Given the description of an element on the screen output the (x, y) to click on. 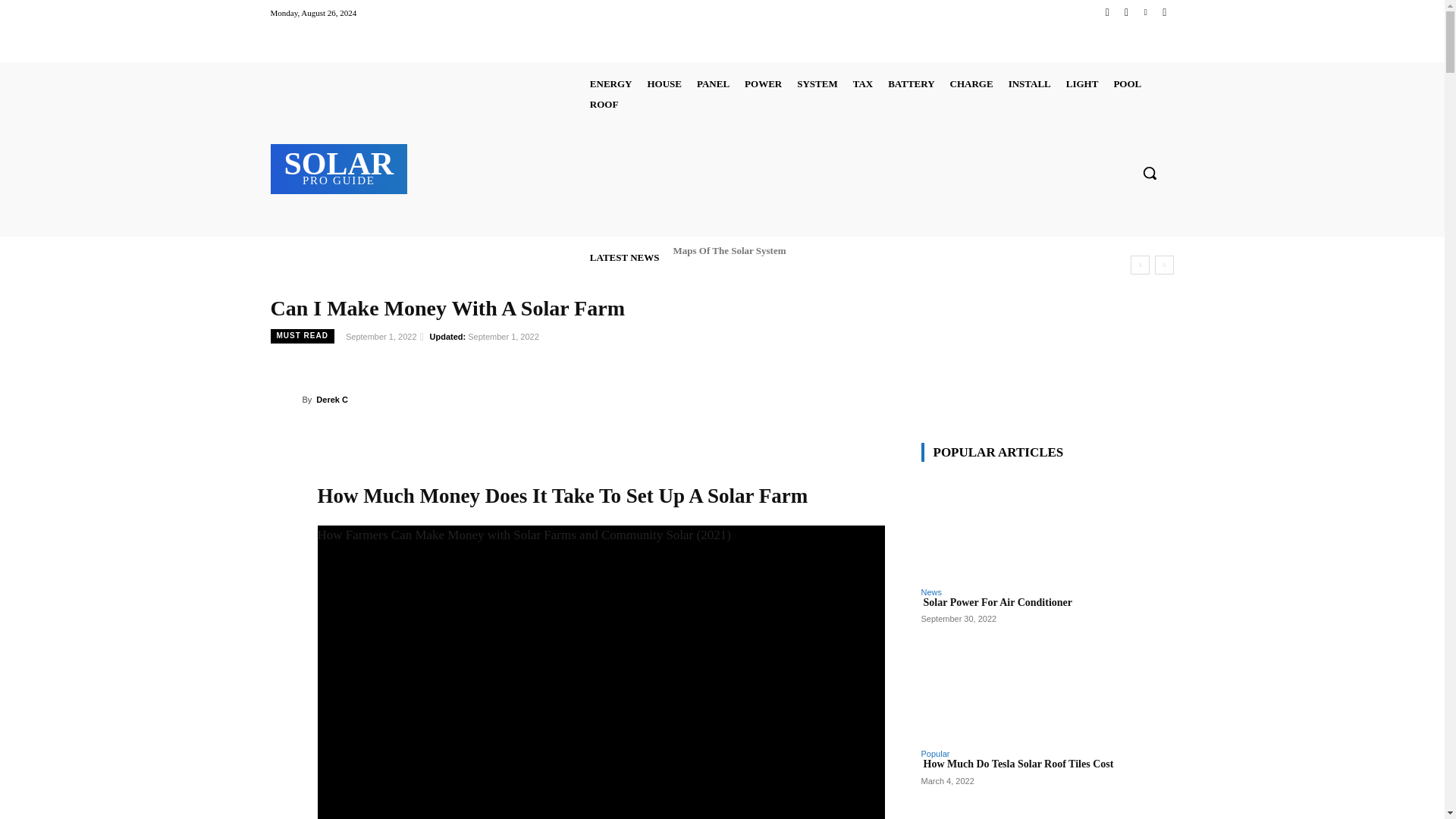
Instagram (1125, 12)
Maps Of The Solar System (728, 250)
Youtube (1163, 12)
Twitter (1144, 12)
Facebook (1106, 12)
